Given the description of an element on the screen output the (x, y) to click on. 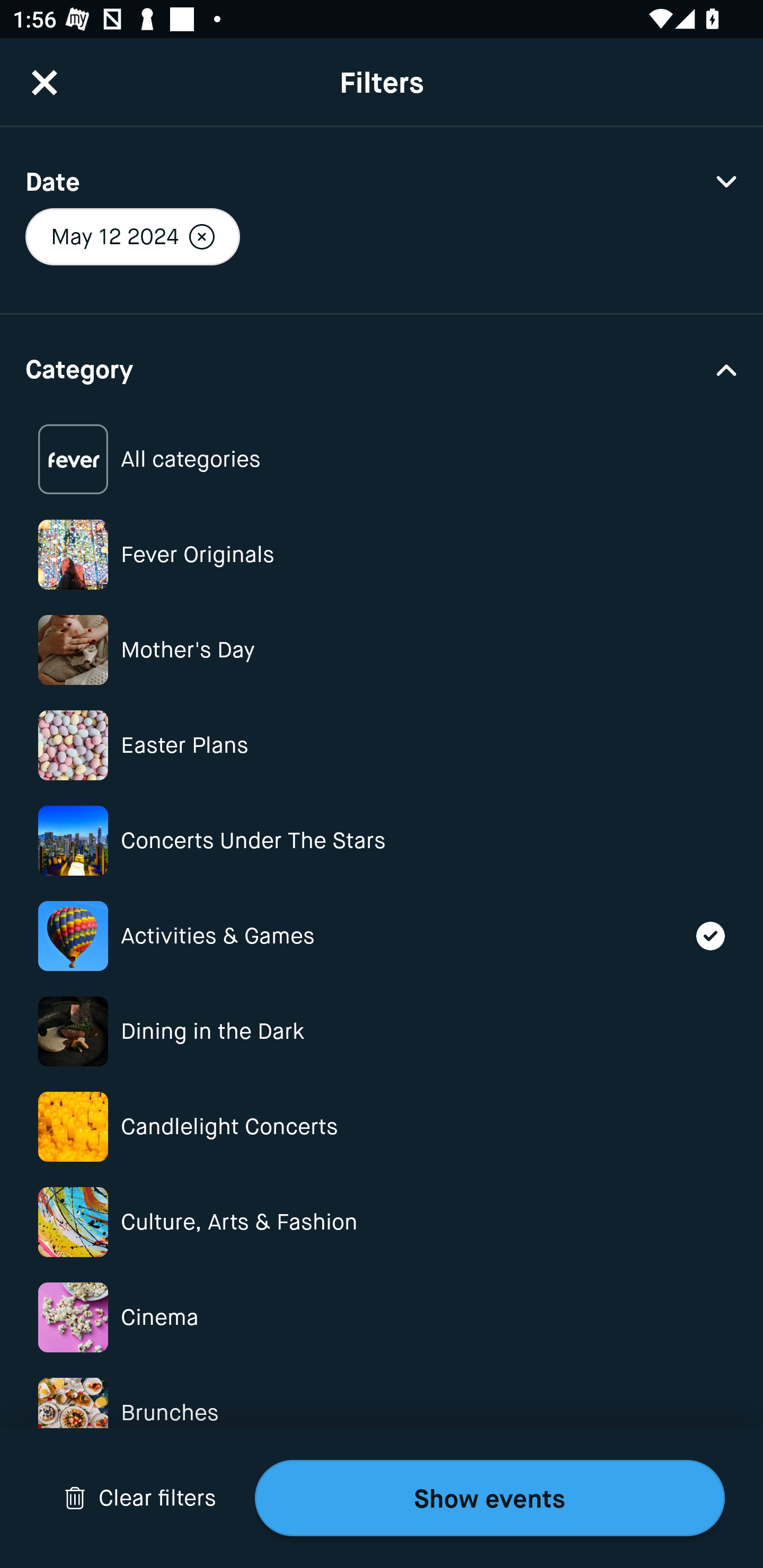
CloseButton (44, 82)
May 12 2024 Localized description (132, 236)
Category Drop Down Arrow (381, 368)
Category Image All categories (381, 459)
Category Image Fever Originals (381, 553)
Category Image Mother's Day (381, 649)
Category Image Easter Plans (381, 745)
Category Image Concerts Under The Stars (381, 840)
Category Image Activities & Games Selected Icon (381, 935)
Category Image Dining in the Dark (381, 1030)
Category Image Candlelight Concerts (381, 1126)
Category Image Culture, Arts & Fashion (381, 1221)
Category Image Cinema (381, 1317)
Category Image Brunches (381, 1412)
Drop Down Arrow Clear filters (139, 1497)
Show events (489, 1497)
